Given the description of an element on the screen output the (x, y) to click on. 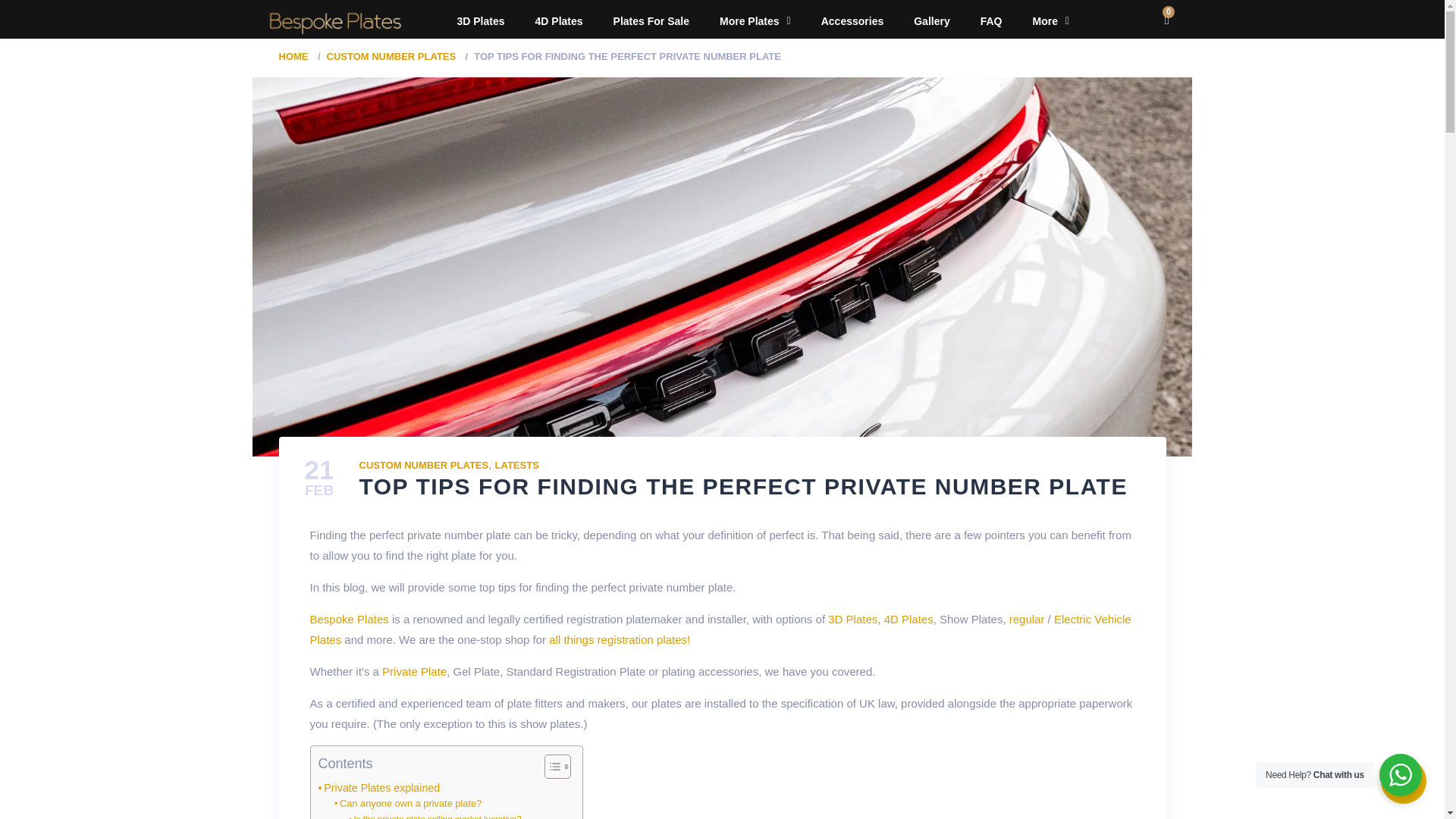
Can anyone own a private plate? (407, 803)
3D Plates (480, 21)
FAQ (991, 21)
4D Plates (558, 21)
Gallery (930, 21)
Accessories (852, 21)
More (1050, 21)
Plates For Sale (651, 21)
More Plates (755, 21)
Is the private plate selling market lucrative? (435, 816)
Private Plates explained (379, 788)
